Given the description of an element on the screen output the (x, y) to click on. 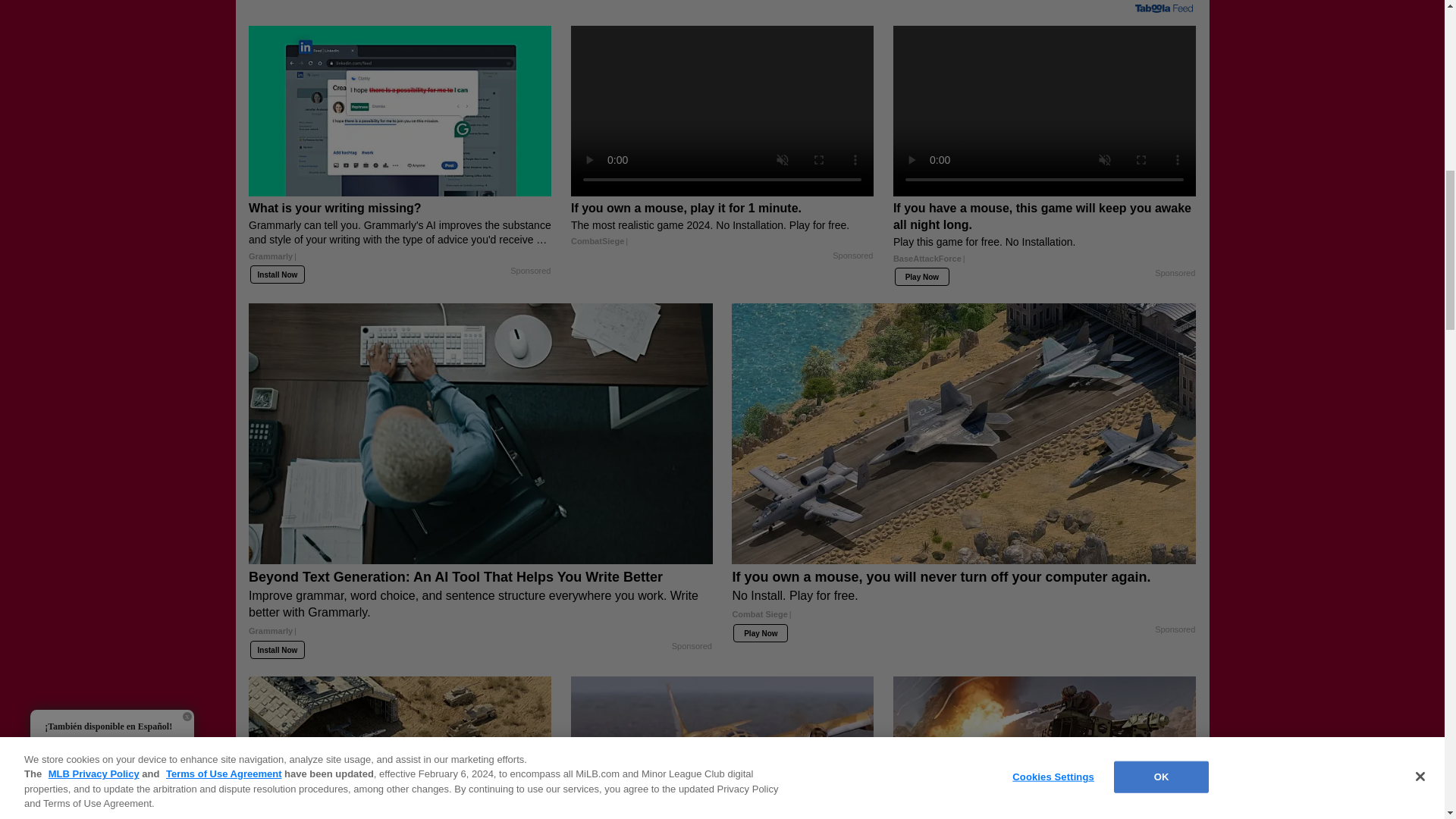
If you own a mouse, play it for 1 minute. (721, 224)
What is your writing missing? (399, 237)
